Given the description of an element on the screen output the (x, y) to click on. 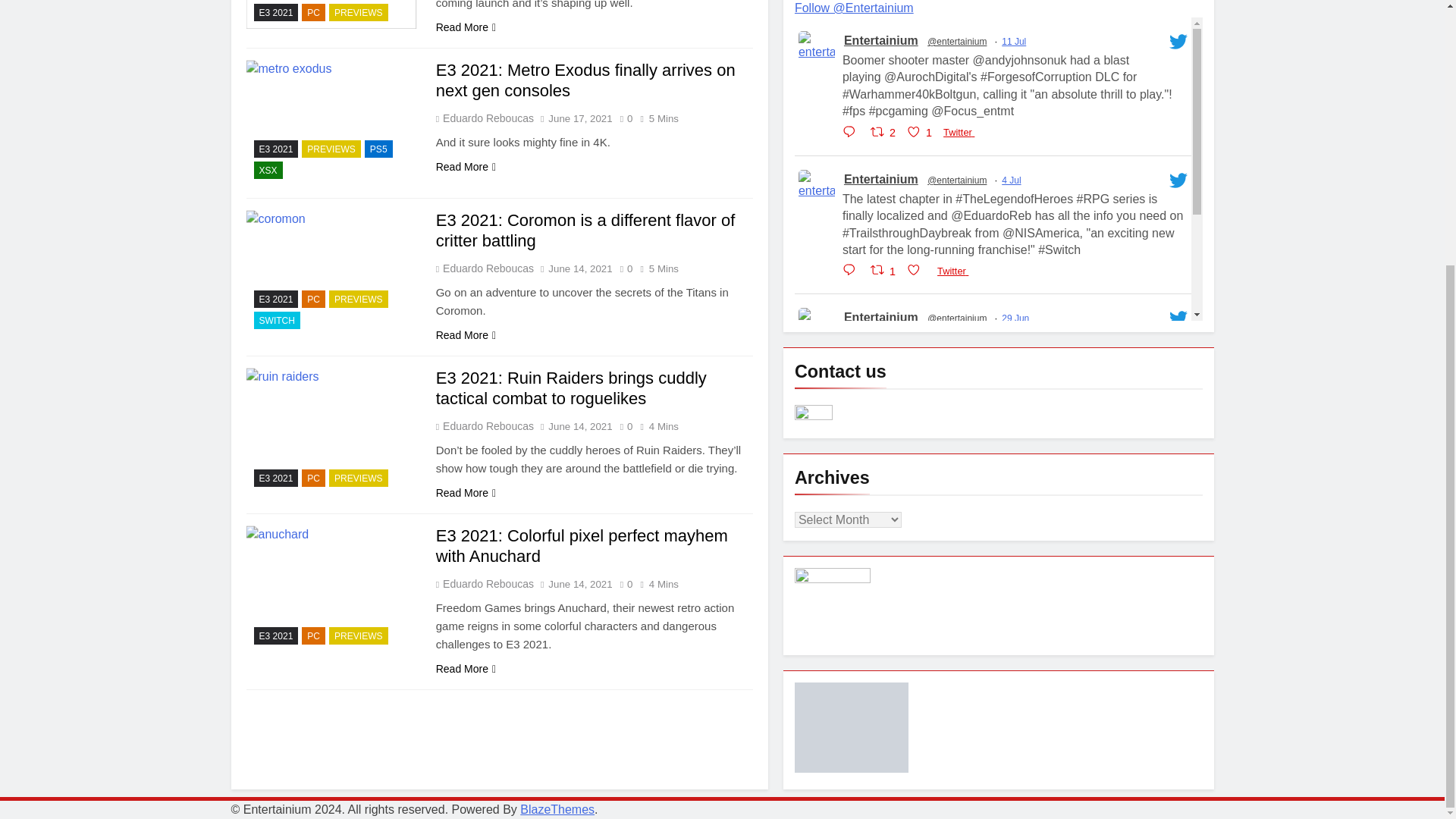
0 (622, 117)
PREVIEWS (358, 12)
E3 2021 (275, 12)
Eduardo Reboucas (486, 118)
E3 2021: Metro Exodus finally arrives on next gen consoles (331, 122)
PREVIEWS (331, 149)
PS5 (379, 149)
Read More (465, 166)
E3 2021: Metro Exodus finally arrives on next gen consoles (585, 79)
June 17, 2021 (579, 118)
E3 2021: Metro Exodus finally arrives on next gen consoles (585, 79)
E3 2021 (275, 149)
E3 2021: Coromon is a different flavor of critter battling (331, 272)
